Given the description of an element on the screen output the (x, y) to click on. 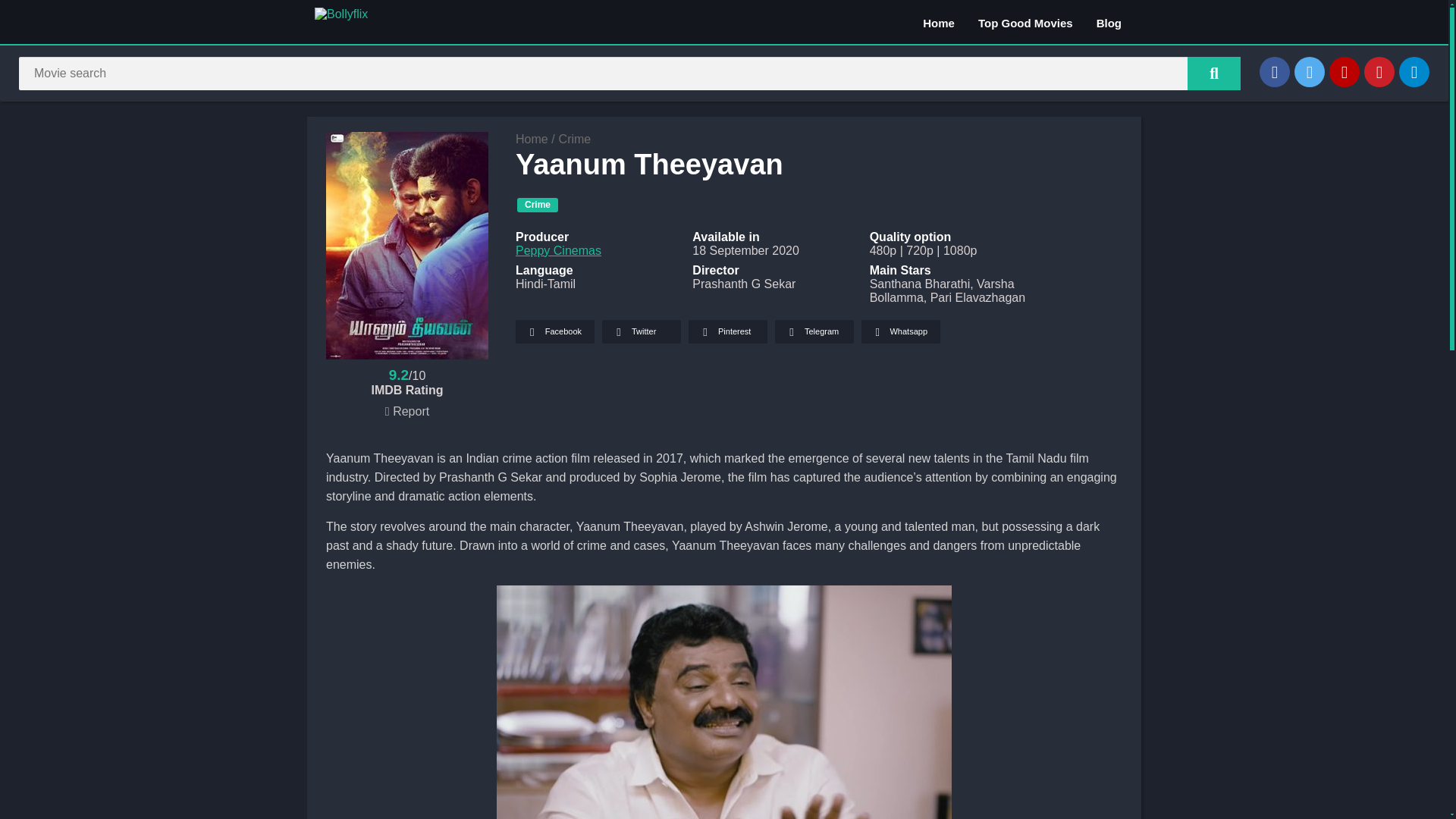
Top Good Movies (1025, 22)
YouTube (1344, 71)
Whatsapp (900, 331)
Peppy Cinemas (558, 250)
Telegram (813, 331)
Telegram (1414, 71)
Home (531, 138)
Crime (536, 205)
Pinterest (727, 331)
Blog (1108, 22)
Facebook (554, 331)
Pinterest (1379, 71)
Twitter (641, 331)
Home (938, 22)
Bollyflix (531, 138)
